Given the description of an element on the screen output the (x, y) to click on. 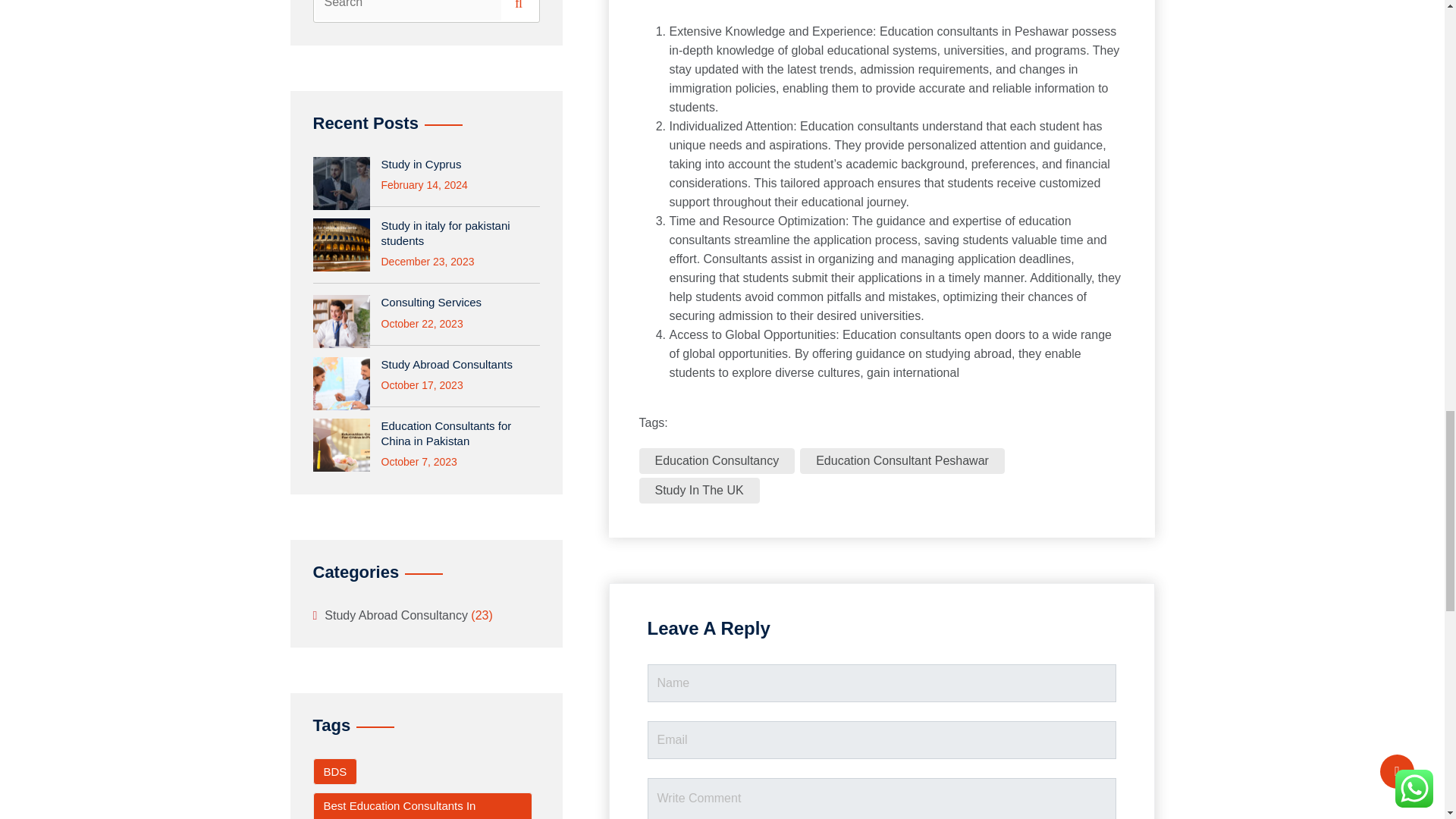
Education Consultant Peshawar (901, 460)
Education Consultancy (716, 460)
Study In The UK (698, 490)
